Given the description of an element on the screen output the (x, y) to click on. 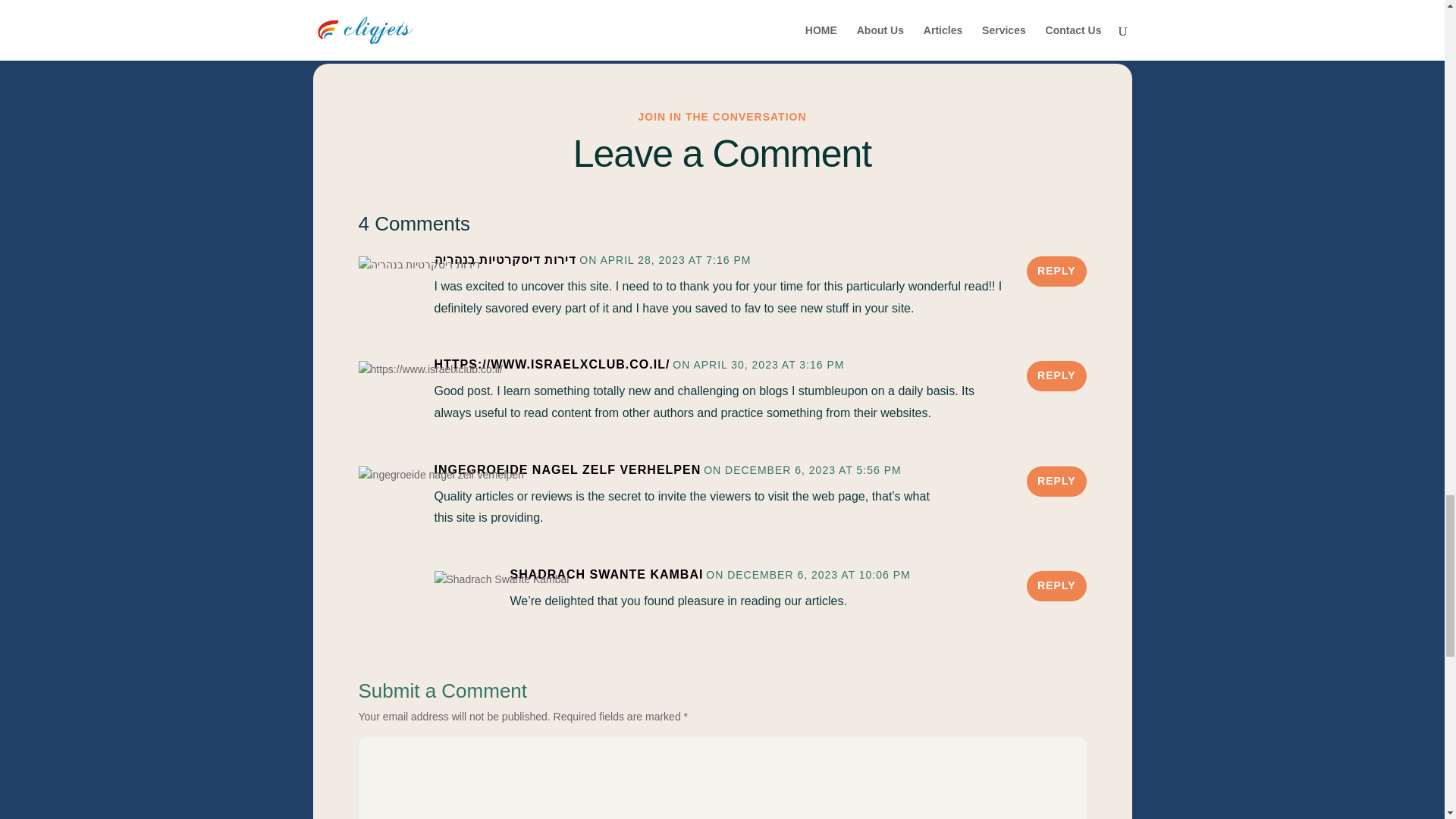
REPLY (1056, 376)
INGEGROEIDE NAGEL ZELF VERHELPEN (566, 470)
REPLY (1056, 481)
REPLY (1056, 271)
